Given the description of an element on the screen output the (x, y) to click on. 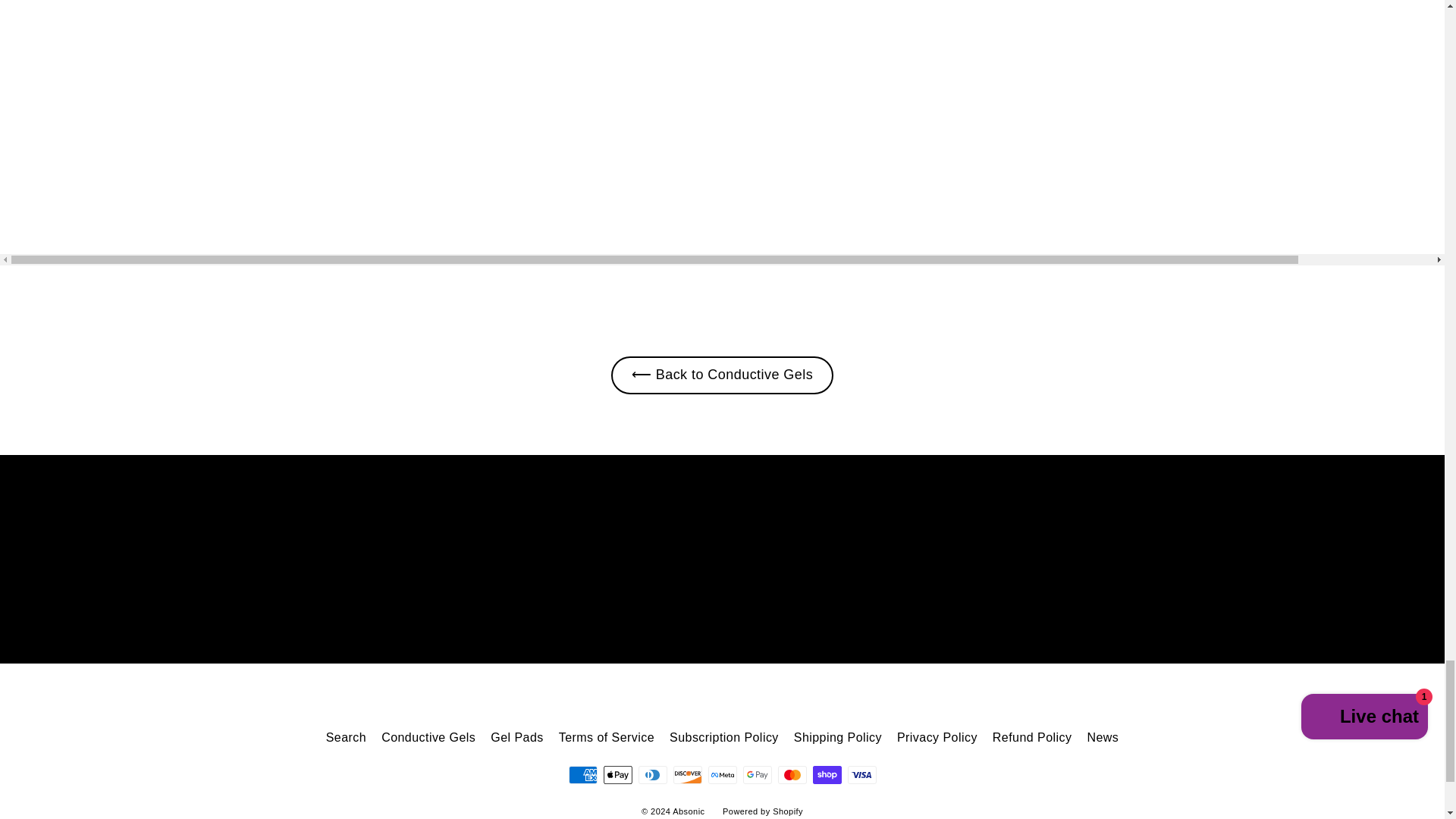
American Express (582, 774)
Apple Pay (617, 774)
Diners Club (652, 774)
Meta Pay (721, 774)
Discover (686, 774)
Google Pay (756, 774)
